Given the description of an element on the screen output the (x, y) to click on. 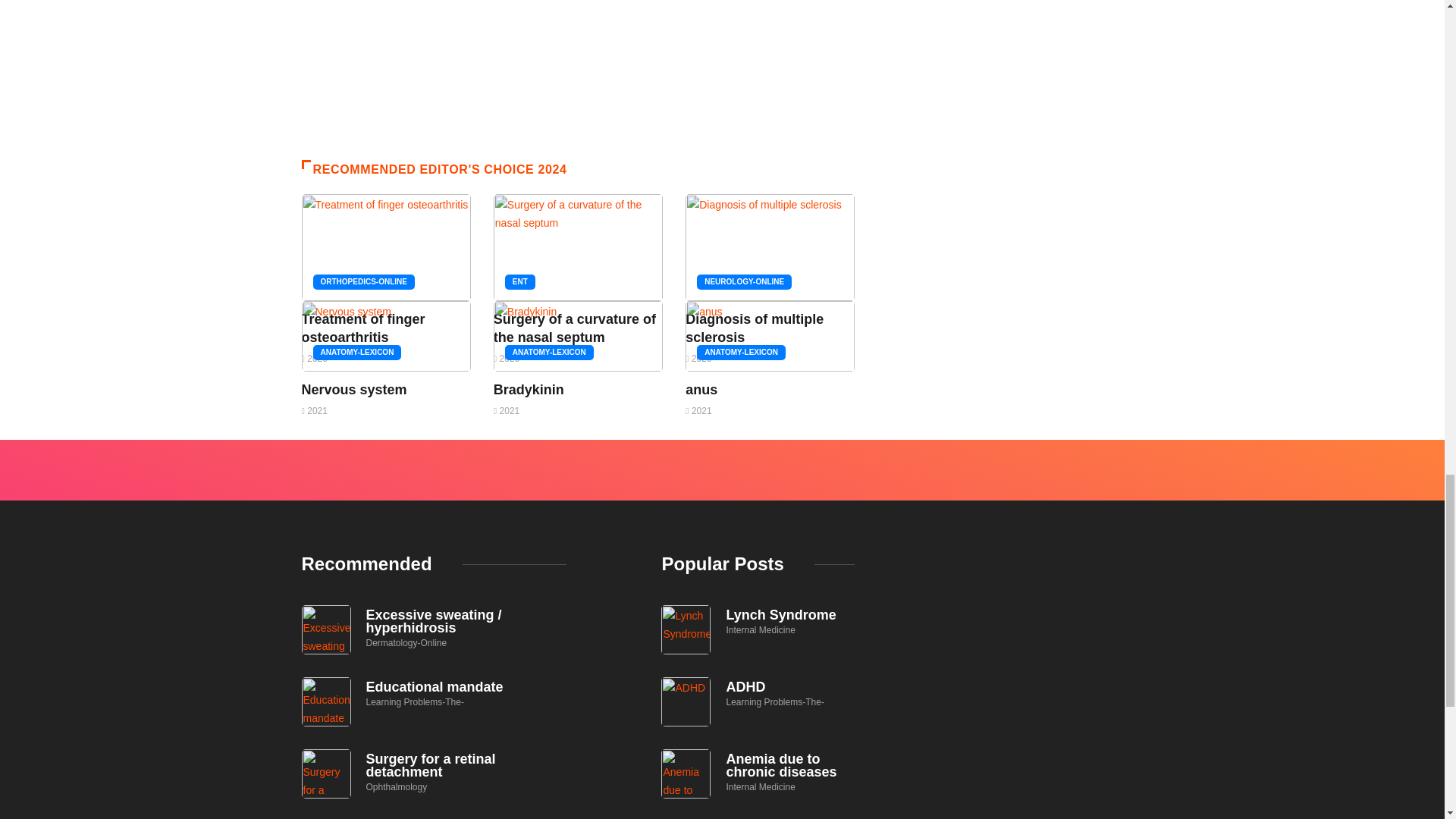
Diagnosis of multiple sclerosis (754, 328)
ANATOMY-LEXICON (549, 352)
ENT (520, 281)
Nervous system (354, 389)
anus (701, 389)
Surgery of a curvature of the nasal septum (574, 328)
Treatment of finger osteoarthritis (363, 328)
Bradykinin (528, 389)
ANATOMY-LEXICON (741, 352)
ORTHOPEDICS-ONLINE (363, 281)
